Given the description of an element on the screen output the (x, y) to click on. 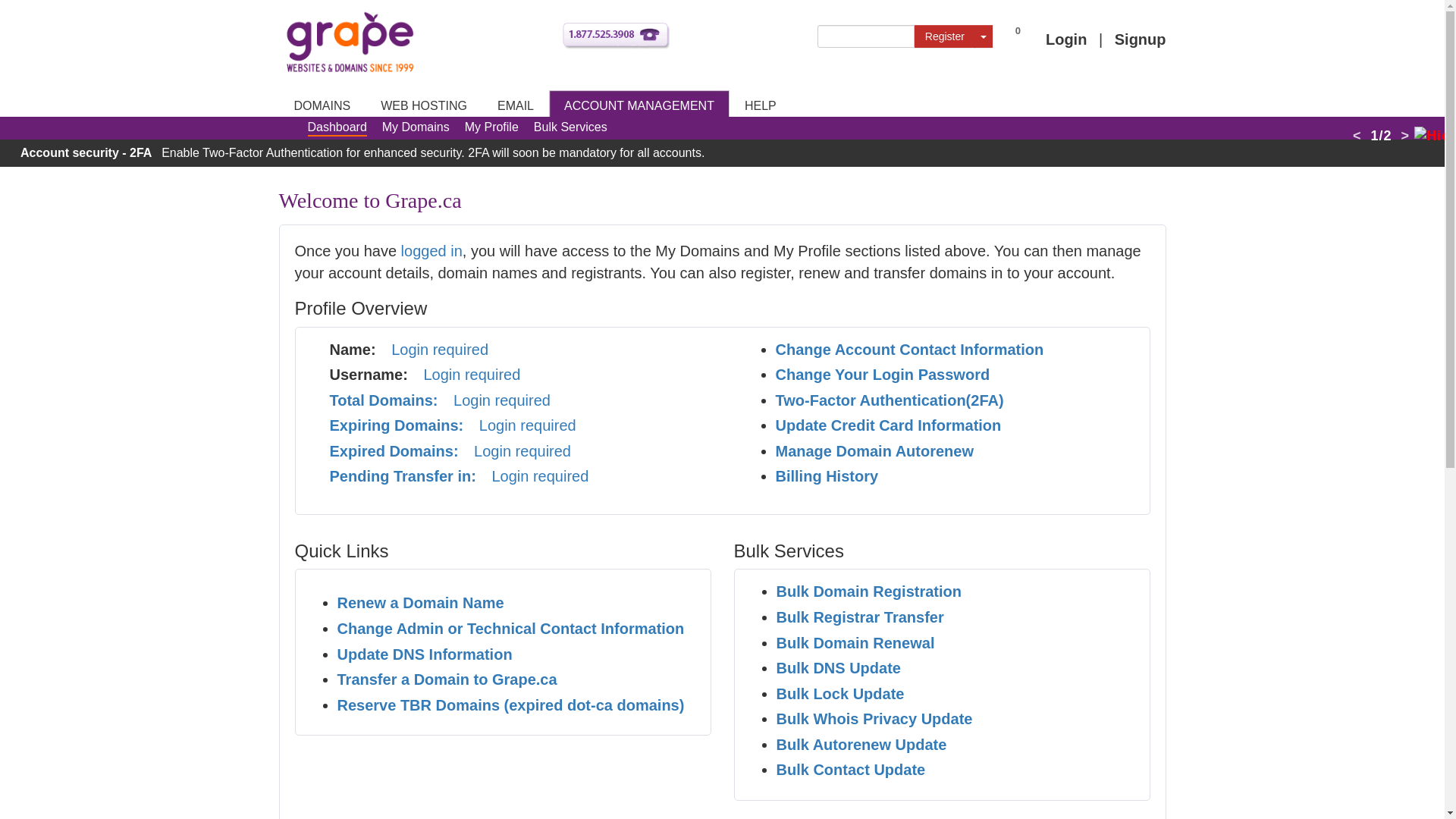
Signup (1136, 35)
WEB HOSTING (423, 102)
Next (1403, 135)
ACCOUNT MANAGEMENT (638, 102)
Previous (1359, 135)
Bulk Services (570, 125)
grape.ca (349, 42)
My Domains (415, 125)
EMAIL (514, 102)
Phone no (615, 35)
My Profile (491, 125)
HELP (760, 102)
Dashboard (336, 125)
0 (1019, 36)
Shopping cart (1019, 36)
